Given the description of an element on the screen output the (x, y) to click on. 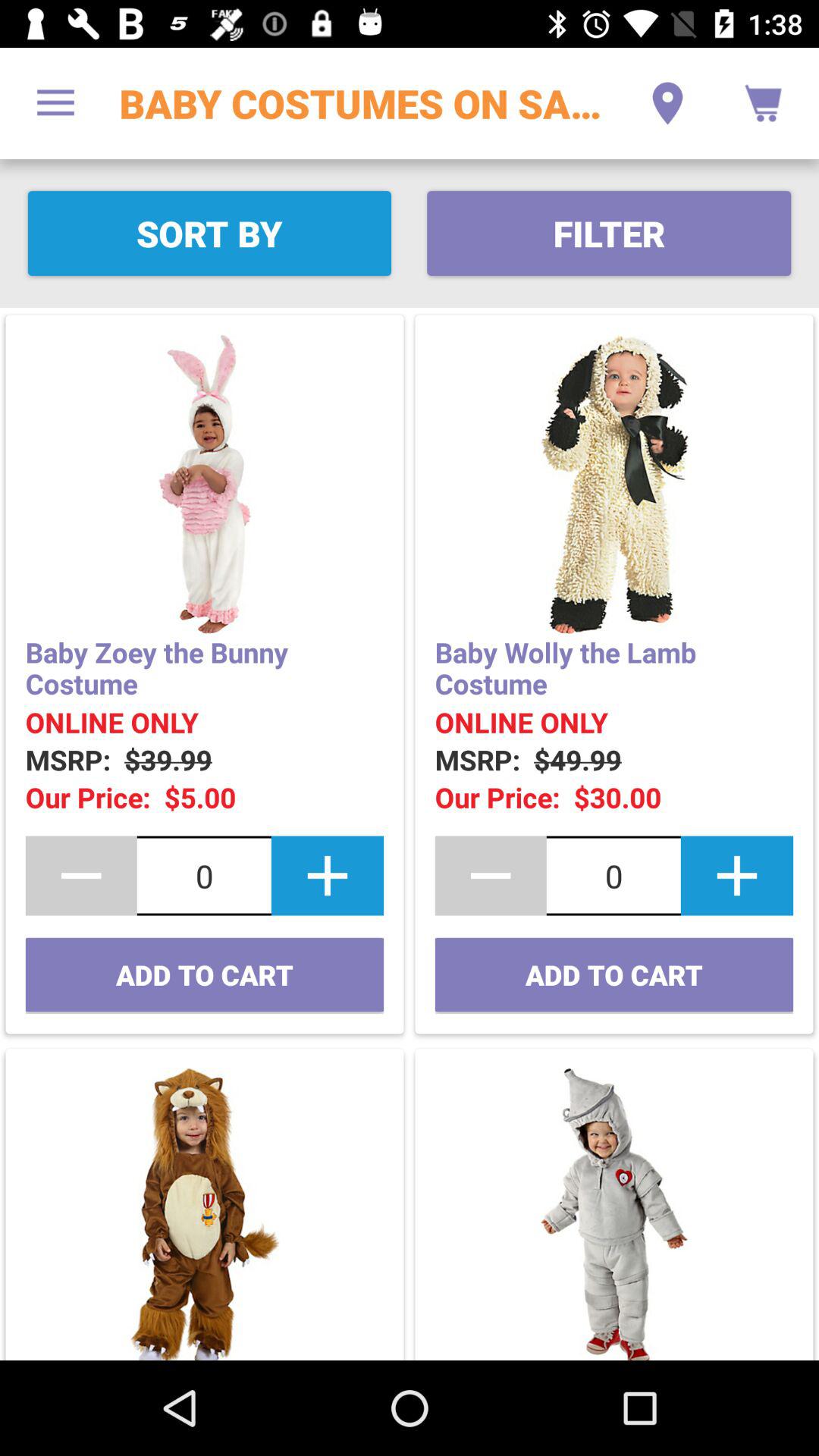
scroll to the filter icon (609, 233)
